Given the description of an element on the screen output the (x, y) to click on. 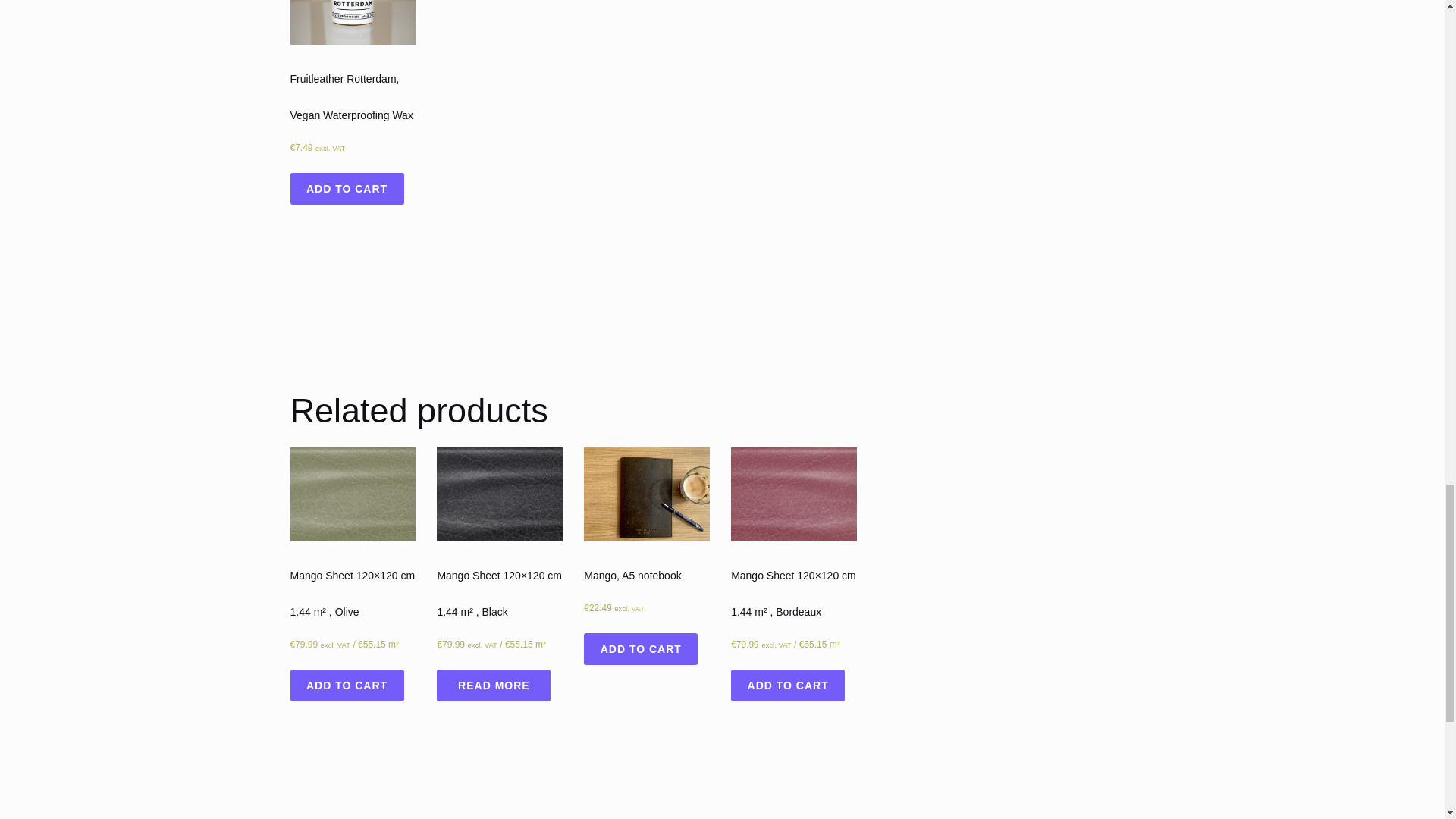
READ MORE (493, 685)
ADD TO CART (346, 685)
ADD TO CART (787, 685)
ADD TO CART (640, 649)
ADD TO CART (346, 188)
